Given the description of an element on the screen output the (x, y) to click on. 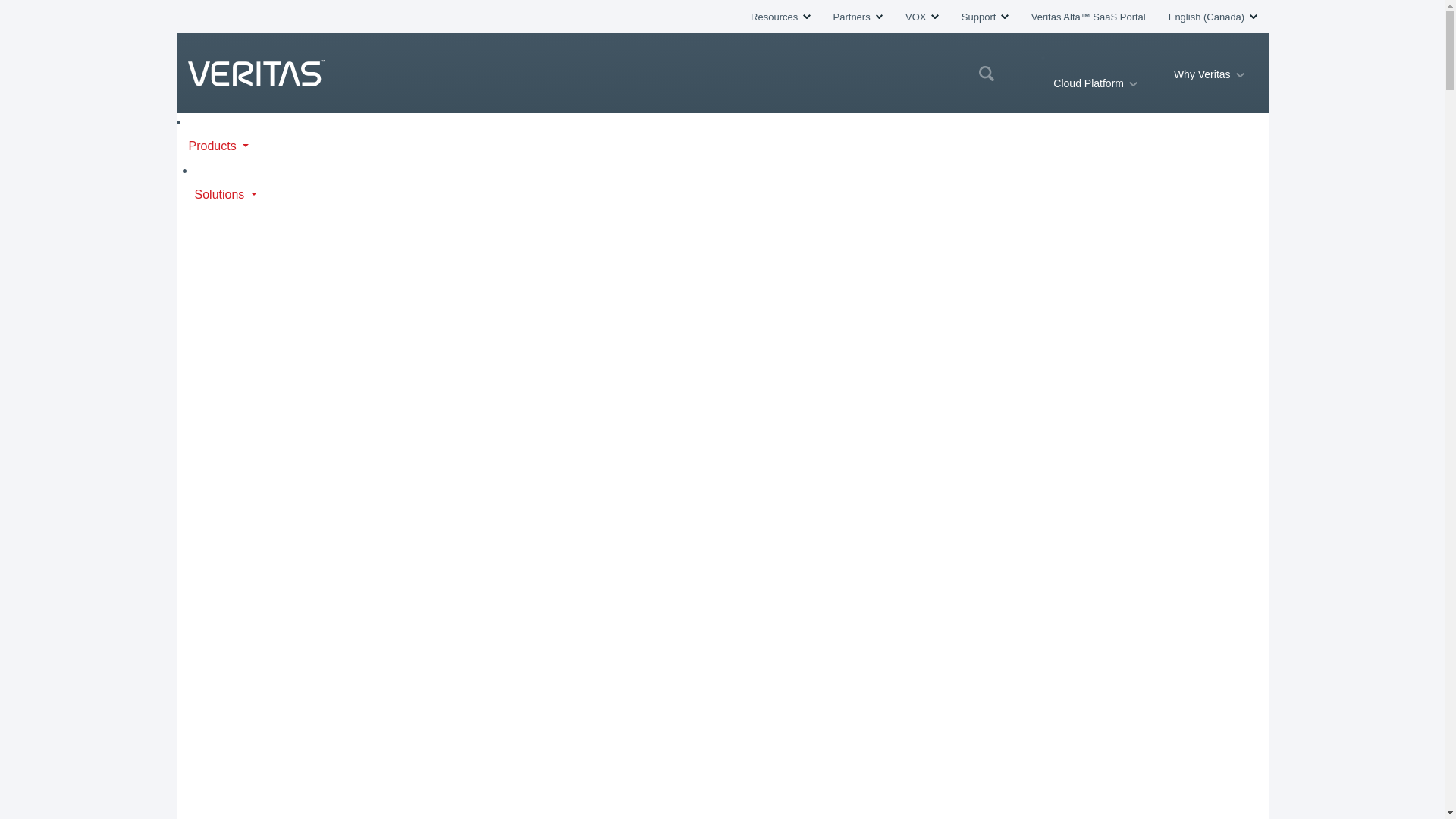
Support (984, 16)
Resources (780, 16)
VOX (922, 16)
Partners (857, 16)
